Given the description of an element on the screen output the (x, y) to click on. 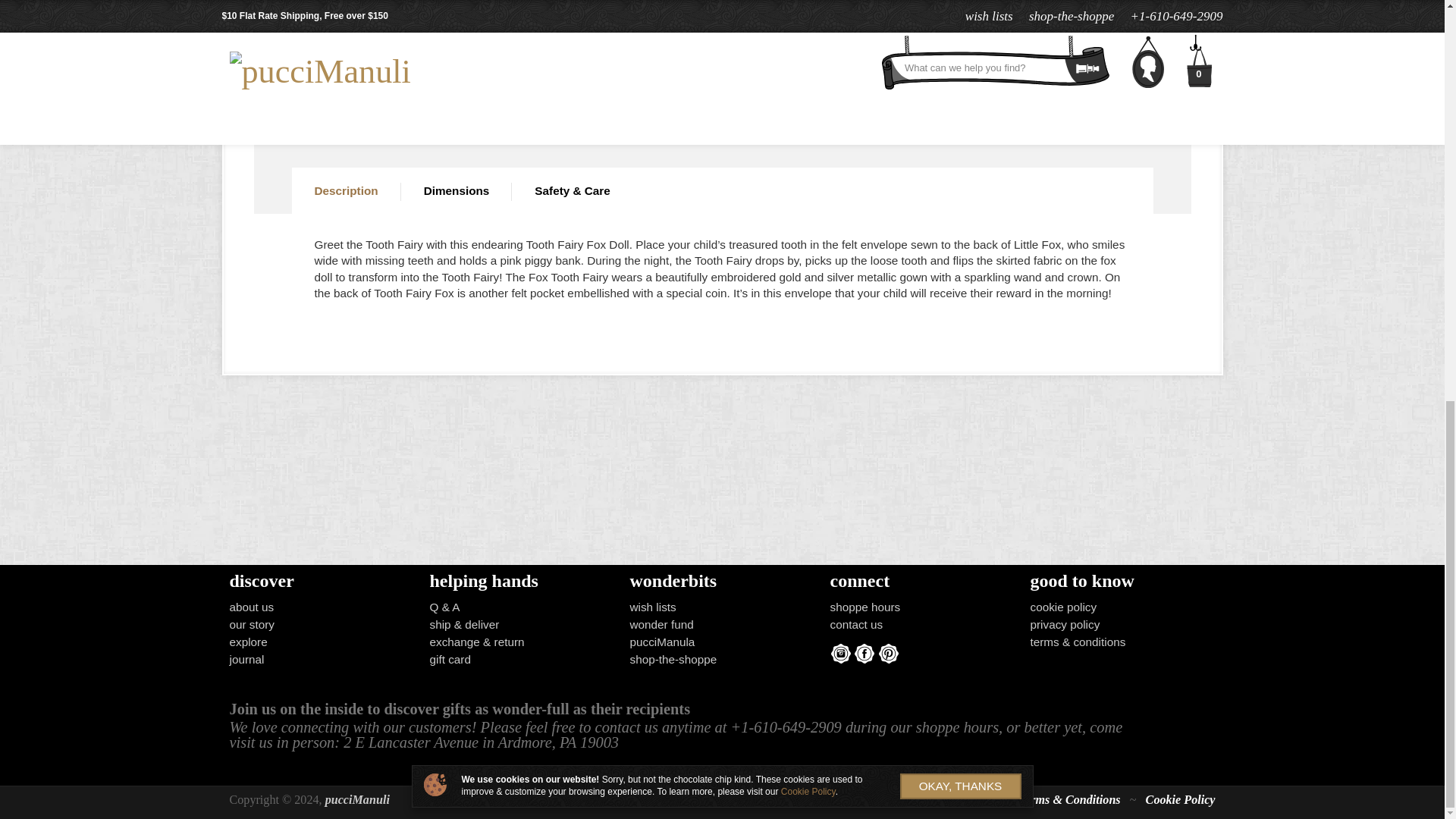
pucciManuli on Instagram (840, 653)
pucciManuli on Facebook (864, 653)
pucciManuli on Pinterest (888, 653)
